Given the description of an element on the screen output the (x, y) to click on. 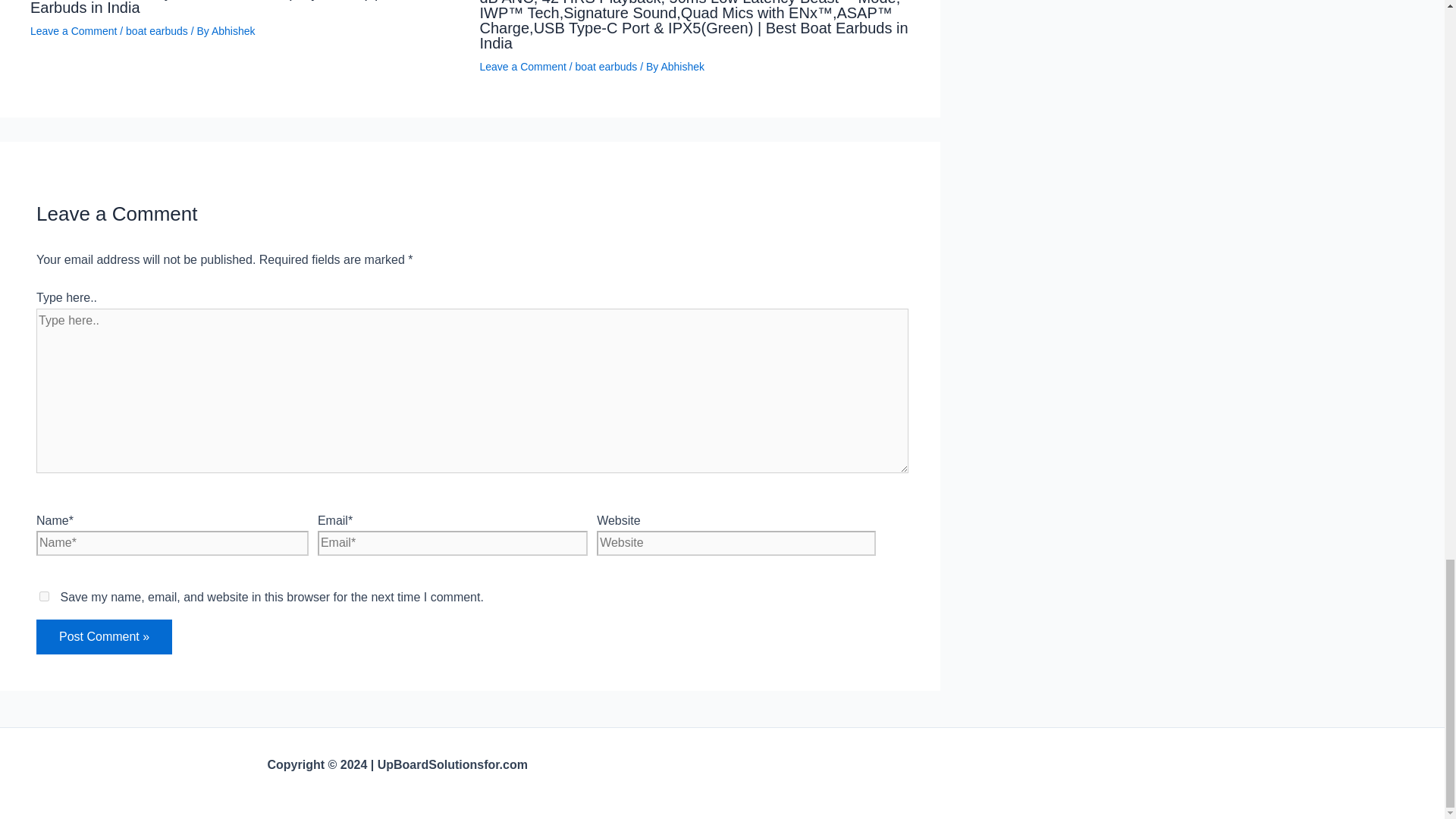
yes (44, 596)
View all posts by Abhishek (233, 30)
View all posts by Abhishek (682, 66)
